Given the description of an element on the screen output the (x, y) to click on. 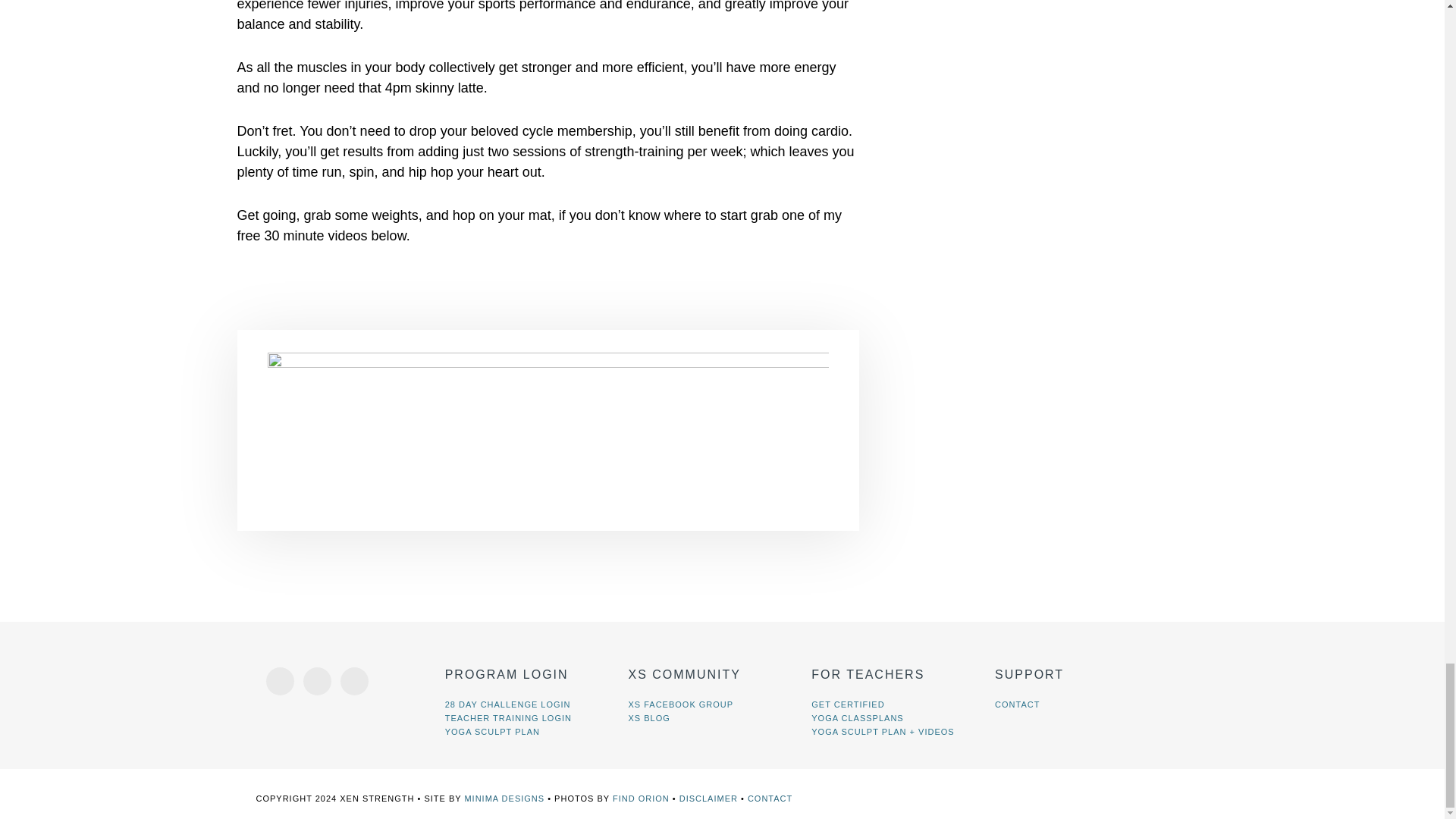
YOGA CLASSPLANS (856, 717)
TEACHER TRAINING LOGIN (508, 717)
CONTACT (1016, 704)
XS BLOG (648, 717)
XS FACEBOOK GROUP (680, 704)
28 DAY CHALLENGE LOGIN (507, 704)
YOGA SCULPT PLAN (492, 731)
GET CERTIFIED (846, 704)
MINIMA DESIGNS (504, 798)
CONTACT (770, 798)
FIND ORION (640, 798)
DISCLAIMER (708, 798)
